Given the description of an element on the screen output the (x, y) to click on. 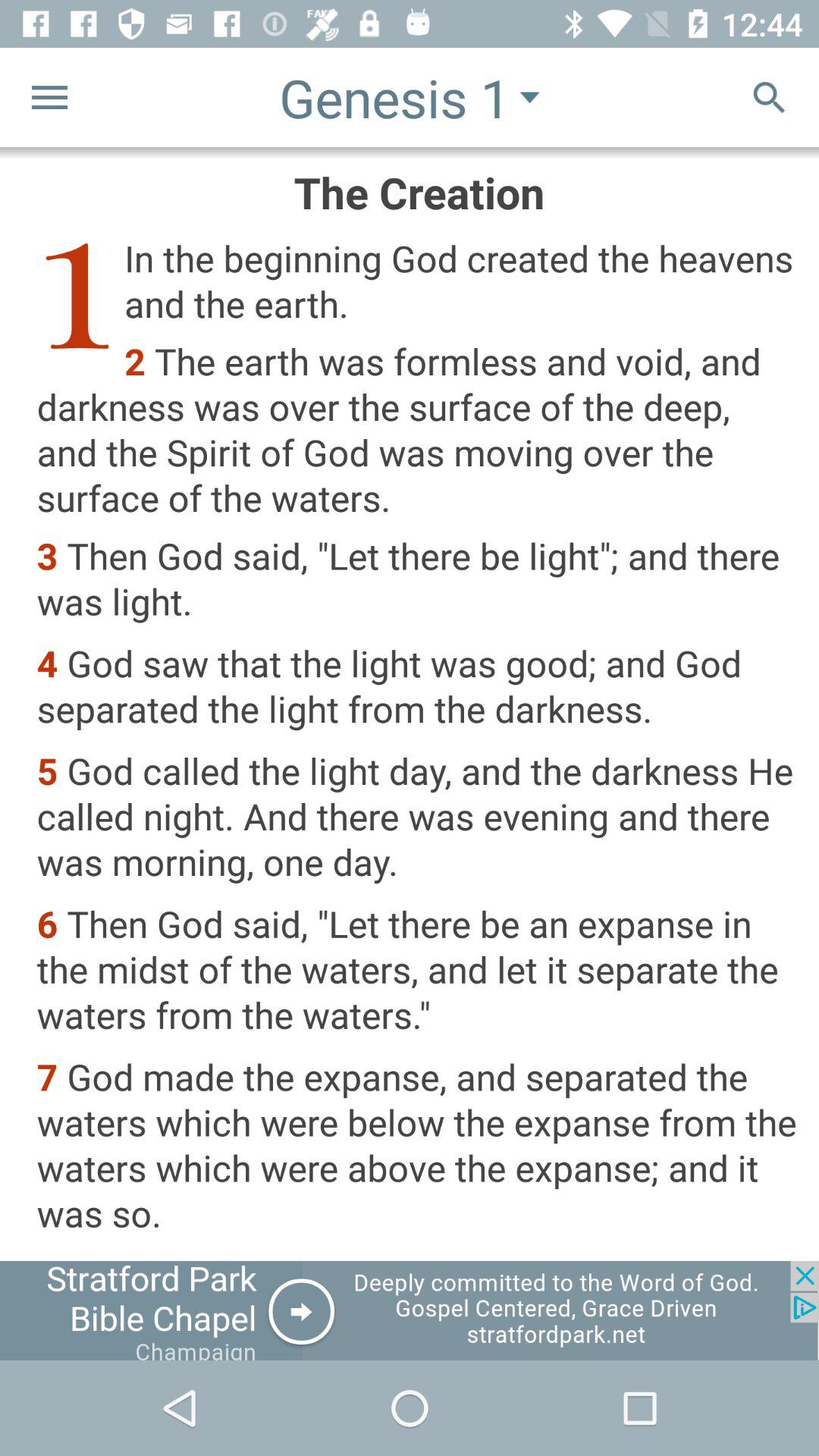
click on the search icon (769, 97)
